Given the description of an element on the screen output the (x, y) to click on. 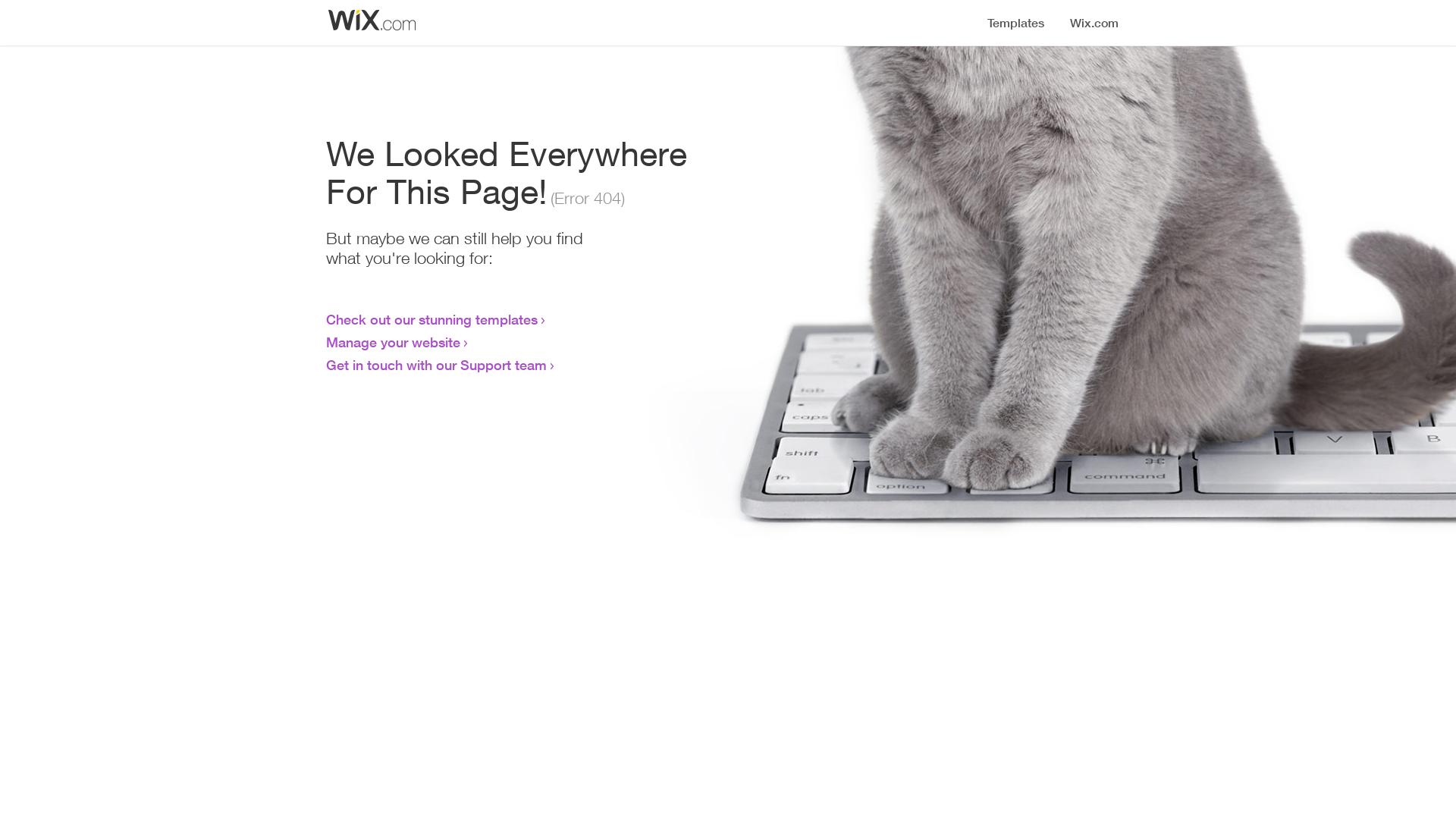
Check out our stunning templates Element type: text (431, 318)
Manage your website Element type: text (393, 341)
Get in touch with our Support team Element type: text (436, 364)
